Given the description of an element on the screen output the (x, y) to click on. 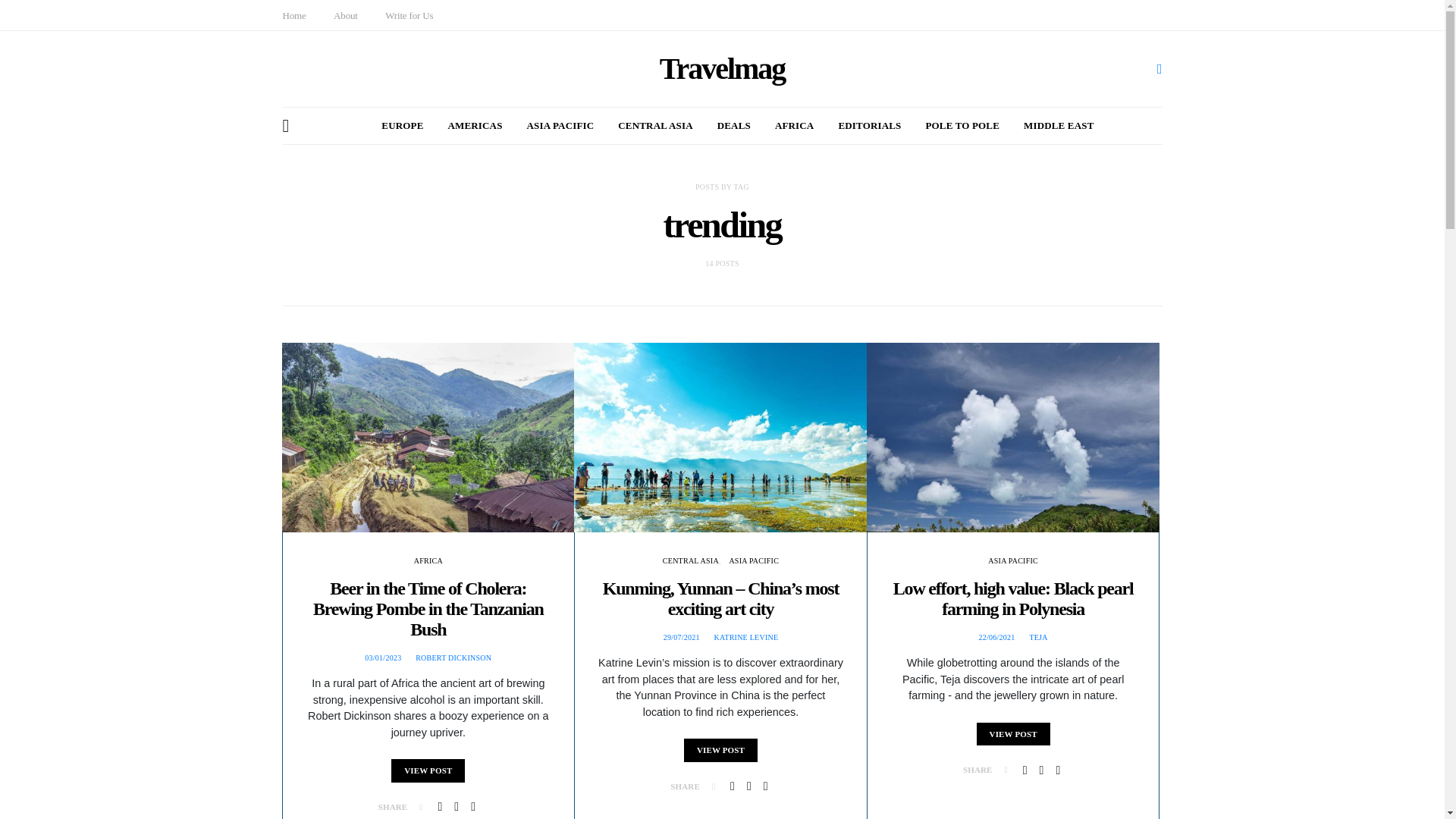
DEALS (734, 125)
About (345, 15)
CENTRAL ASIA (655, 125)
View all posts by Katrine Levine (745, 637)
Home (293, 15)
VIEW POST (427, 770)
View all posts by Teja (1037, 637)
POLE TO POLE (961, 125)
AFRICA (793, 125)
AFRICA (427, 560)
